Given the description of an element on the screen output the (x, y) to click on. 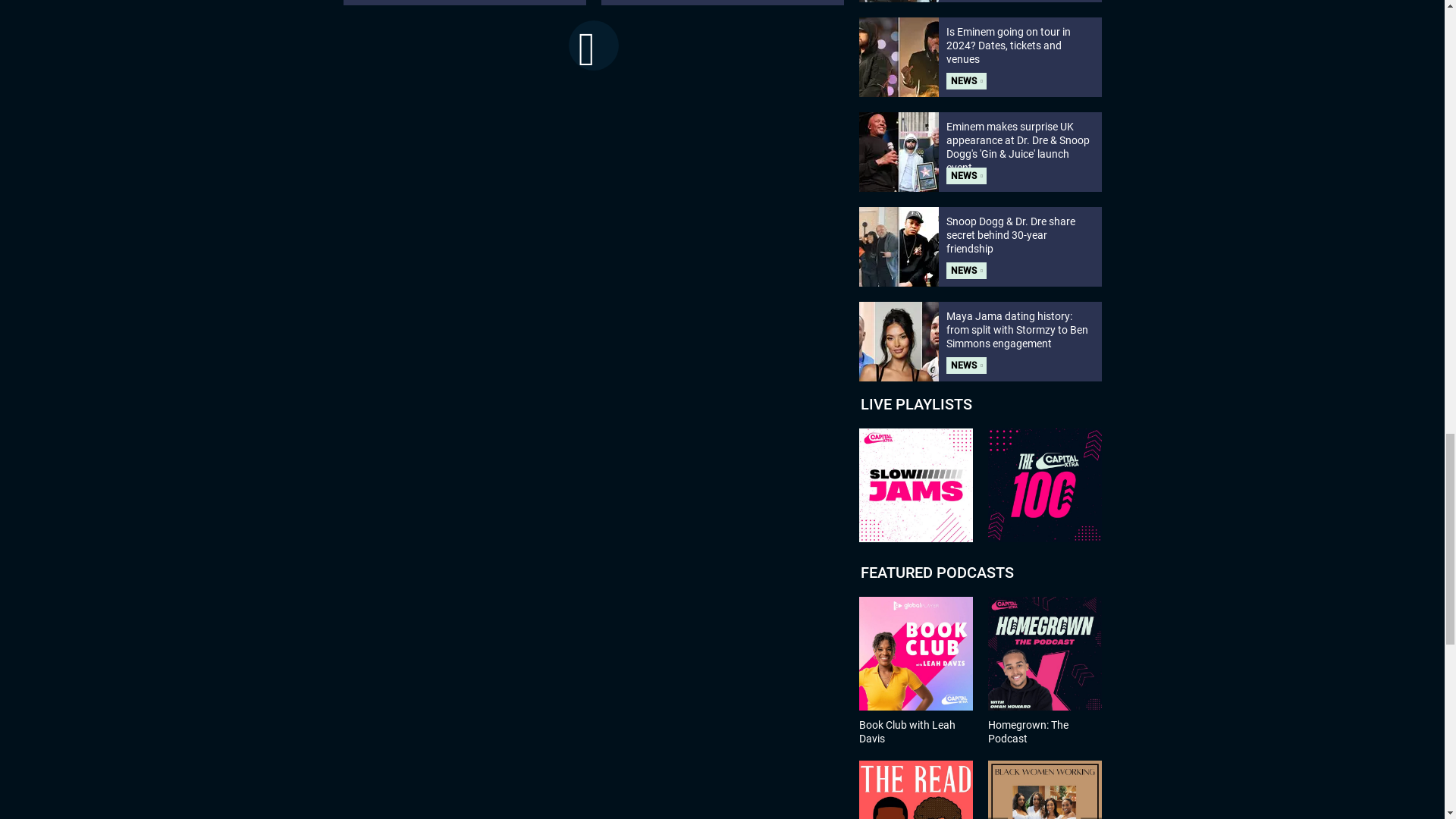
View More (593, 45)
